Given the description of an element on the screen output the (x, y) to click on. 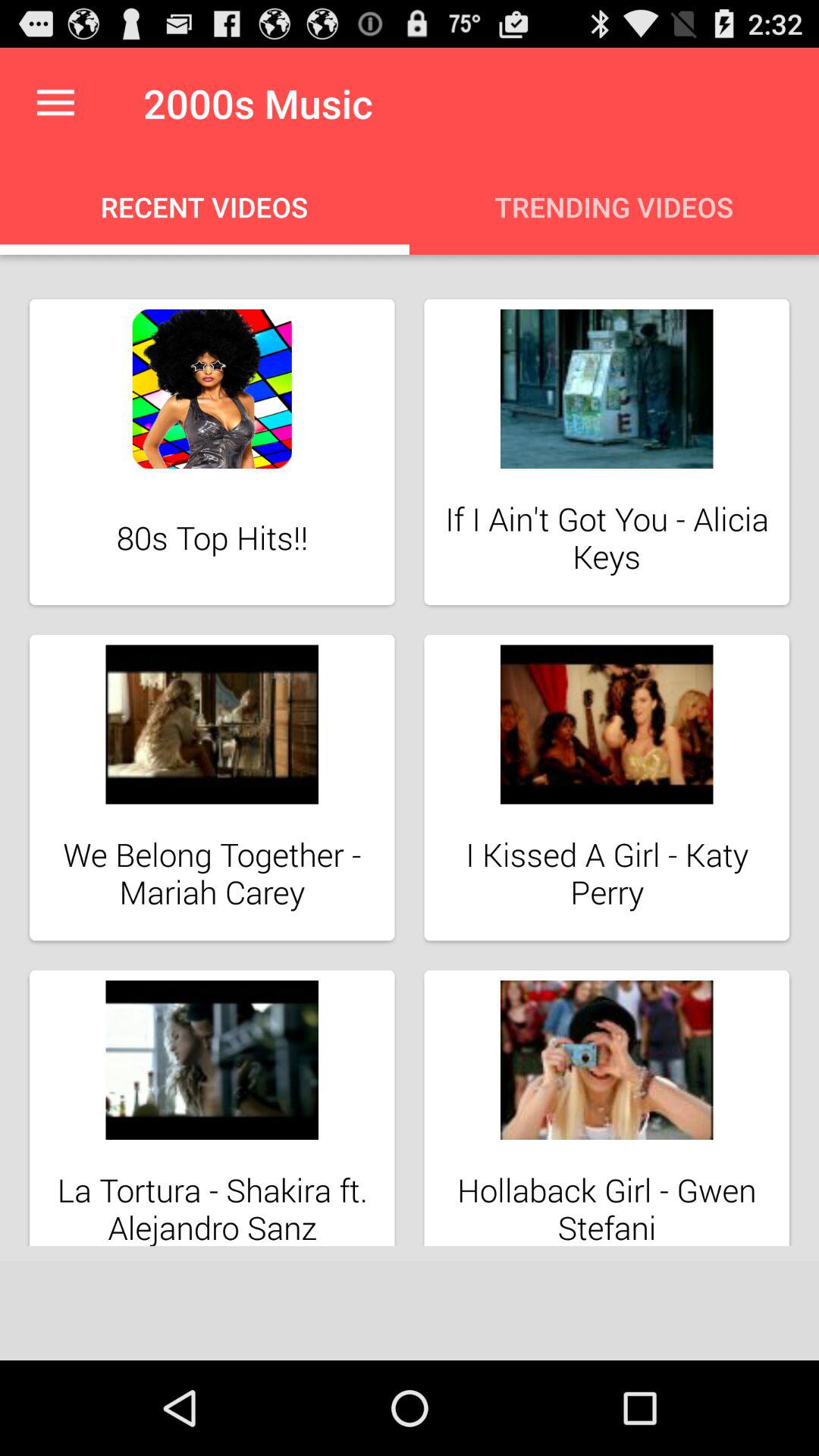
press the icon above recent videos icon (55, 103)
